Given the description of an element on the screen output the (x, y) to click on. 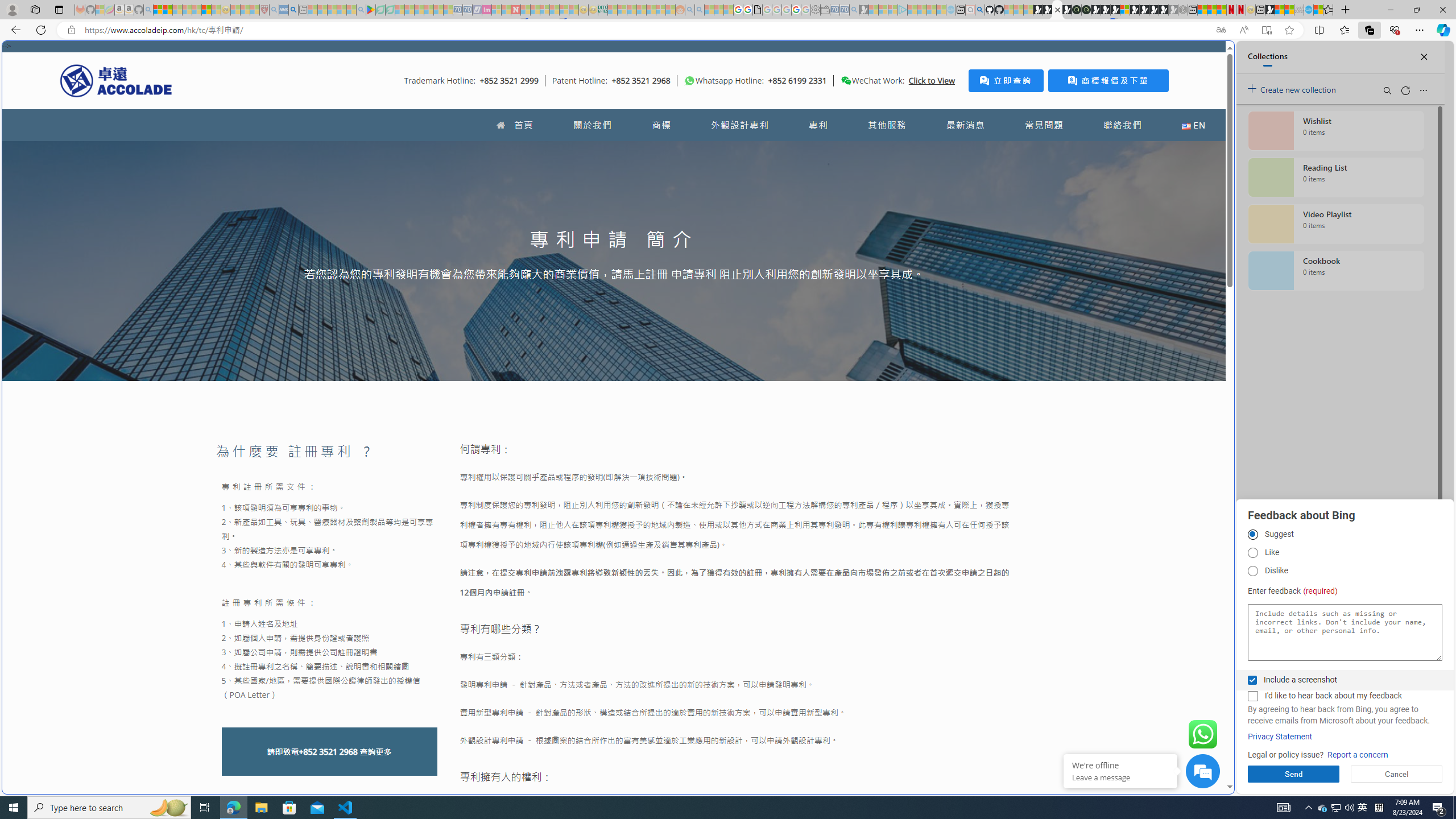
World - MSN (727, 389)
Wallet - Sleeping (824, 9)
